Given the description of an element on the screen output the (x, y) to click on. 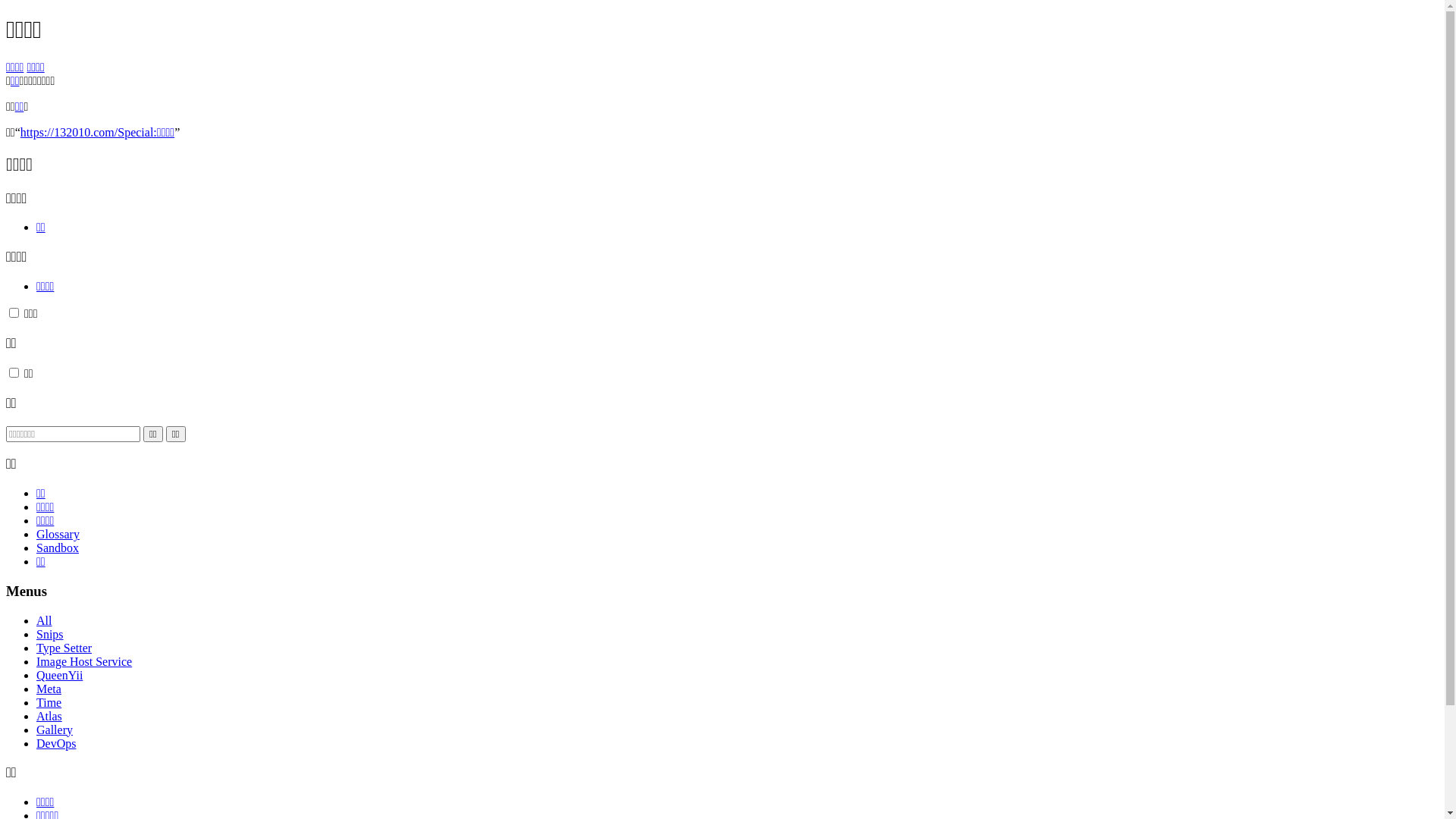
Type Setter Element type: text (63, 647)
Meta Element type: text (48, 688)
Glossary Element type: text (57, 533)
DevOps Element type: text (55, 743)
Sandbox Element type: text (57, 547)
Snips Element type: text (49, 633)
Time Element type: text (48, 702)
QueenYii Element type: text (59, 674)
All Element type: text (43, 620)
Gallery Element type: text (54, 729)
Image Host Service Element type: text (83, 661)
Atlas Element type: text (49, 715)
